Given the description of an element on the screen output the (x, y) to click on. 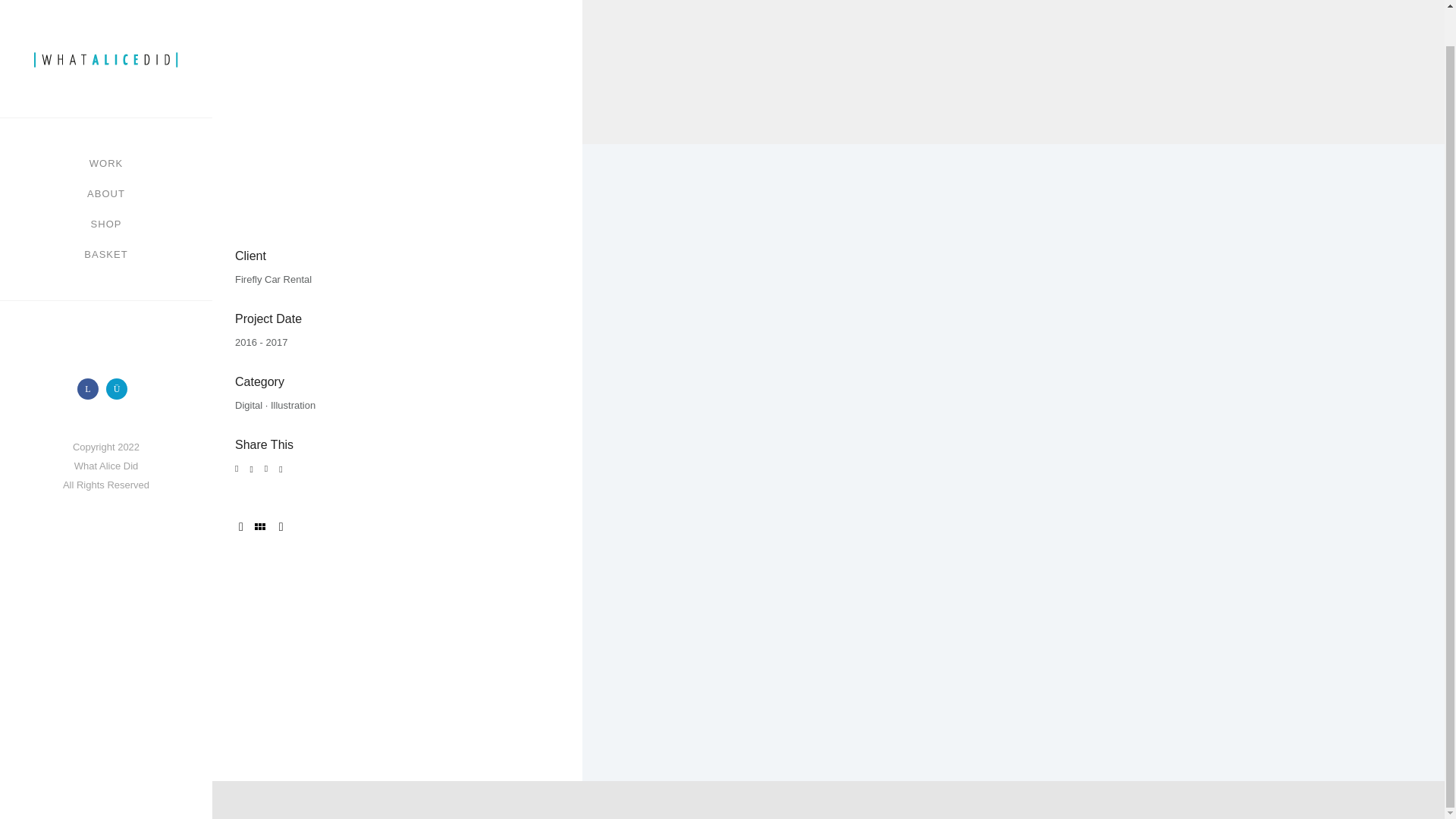
Illustration (292, 405)
Shop (106, 186)
SHOP (106, 186)
Work (105, 125)
About (106, 155)
WORK (105, 125)
ABOUT (106, 155)
BASKET (106, 216)
Digital (248, 405)
Basket (106, 216)
